Given the description of an element on the screen output the (x, y) to click on. 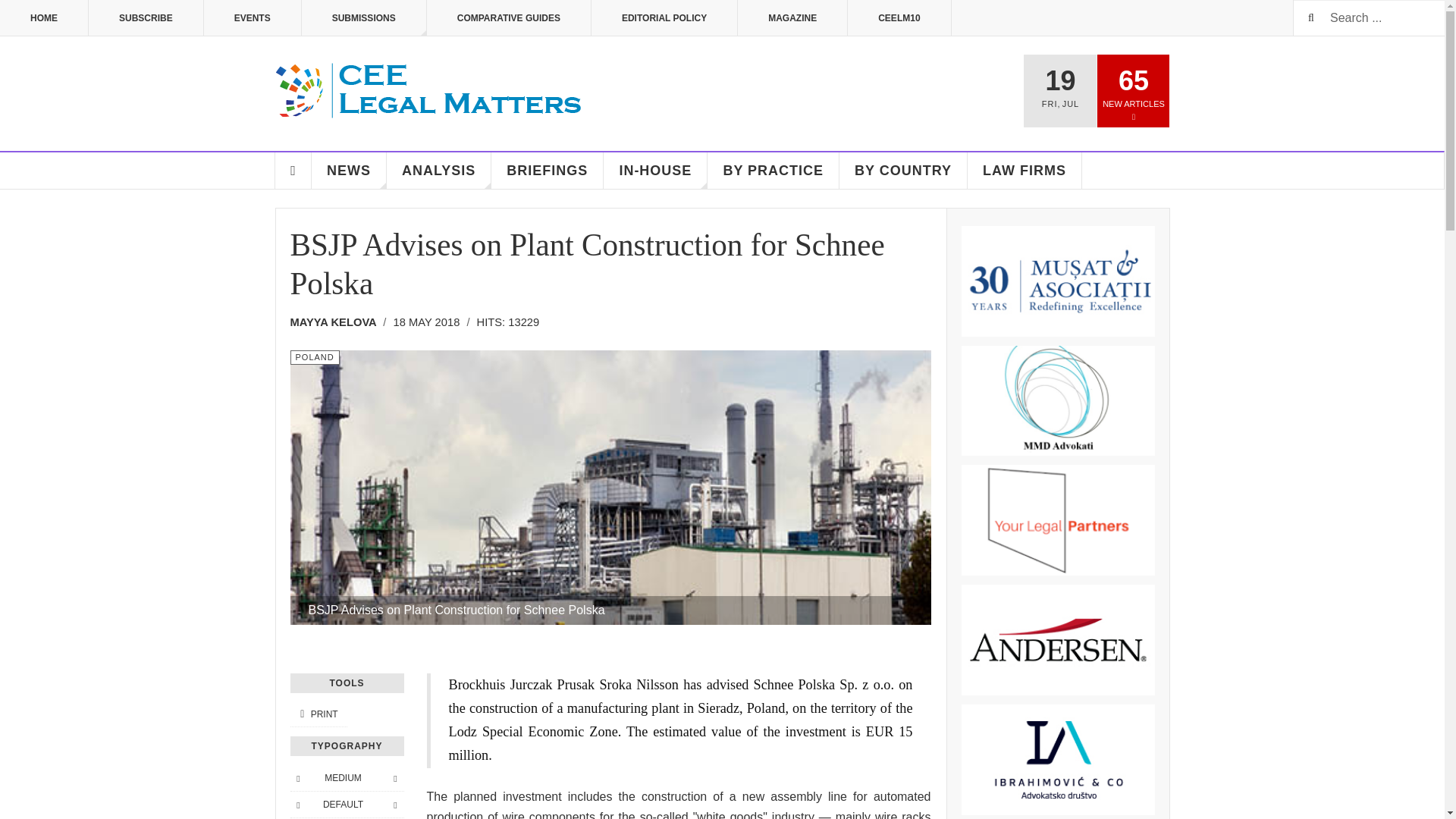
HOME (293, 170)
HOME (44, 18)
SUBMISSIONS (363, 18)
MAGAZINE (792, 18)
NEWS (349, 170)
CEELM10 (898, 18)
EDITORIAL POLICY (664, 18)
CEE Legal Matters (429, 90)
SUBSCRIBE (145, 18)
EVENTS (252, 18)
COMPARATIVE GUIDES (508, 18)
